Given the description of an element on the screen output the (x, y) to click on. 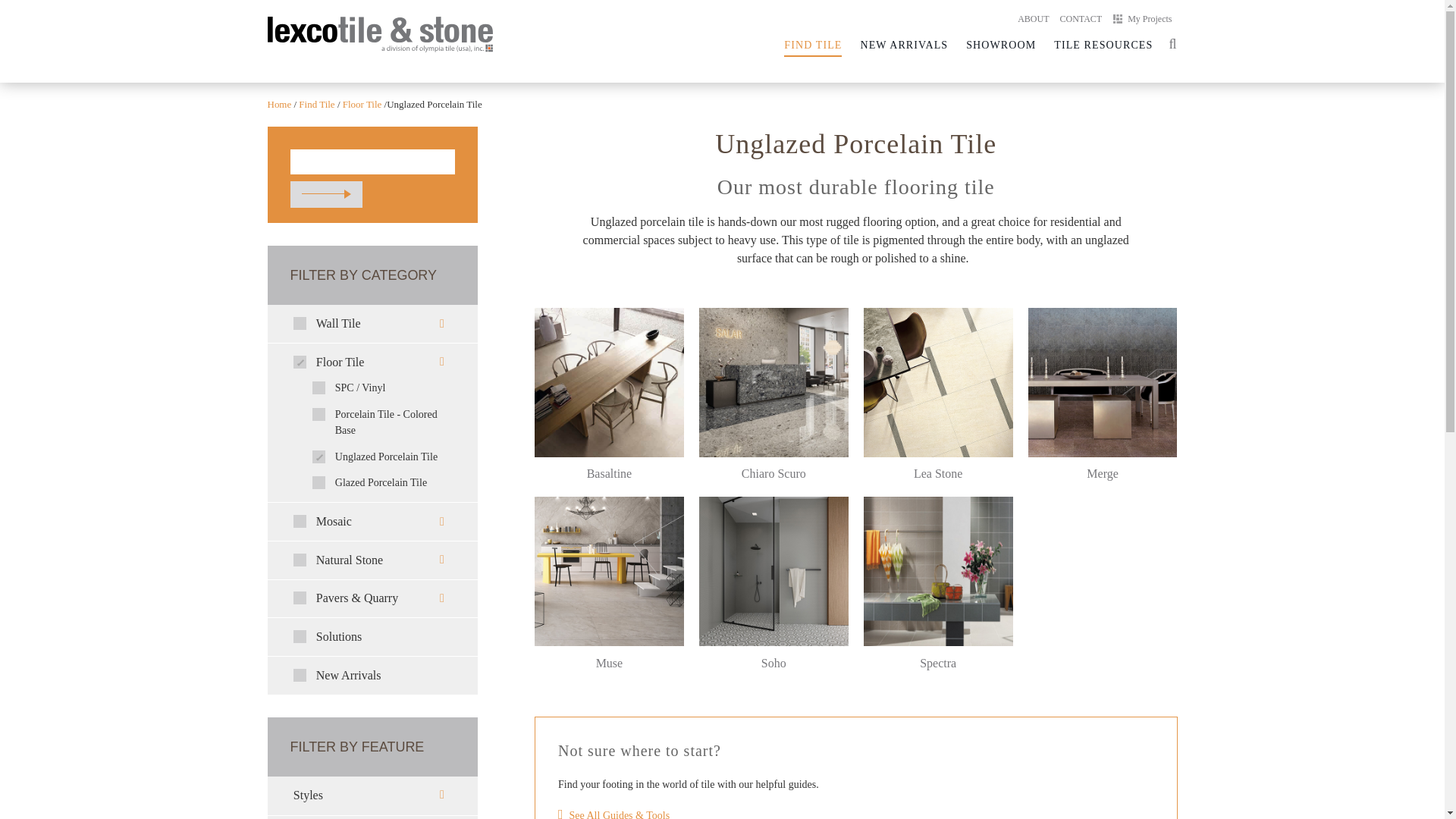
CONTACT (1080, 18)
FIND TILE (812, 45)
ABOUT (1032, 18)
TILE RESOURCES (1103, 45)
SHOWROOM (1000, 45)
My Projects (371, 768)
NEW ARRIVALS (1144, 18)
